Given the description of an element on the screen output the (x, y) to click on. 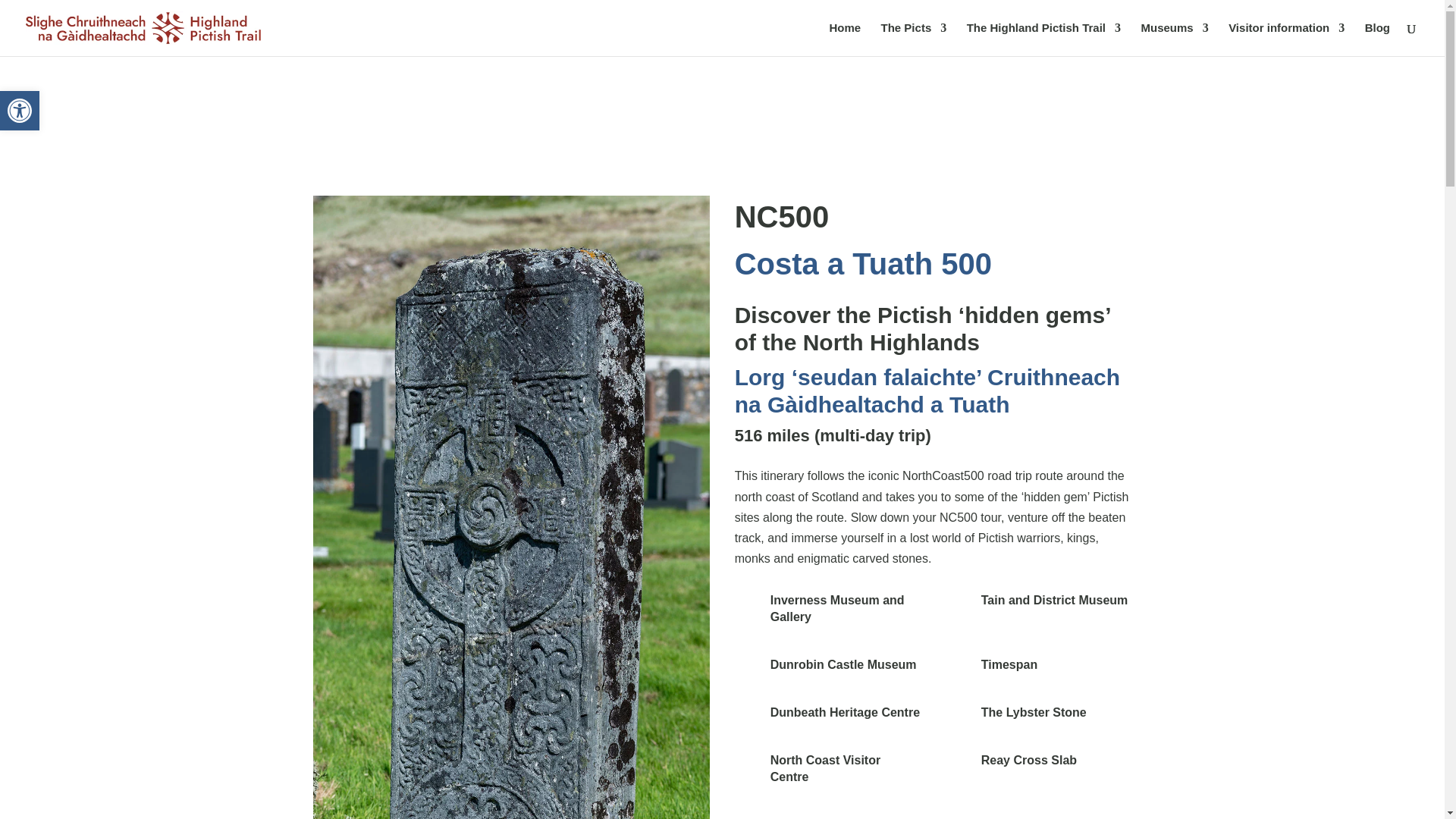
The Highland Pictish Trail (1043, 39)
The Picts (913, 39)
Visitor information (1285, 39)
Accessibility Tools (19, 110)
Home (844, 39)
Accessibility Tools (19, 110)
Museums (19, 110)
